Given the description of an element on the screen output the (x, y) to click on. 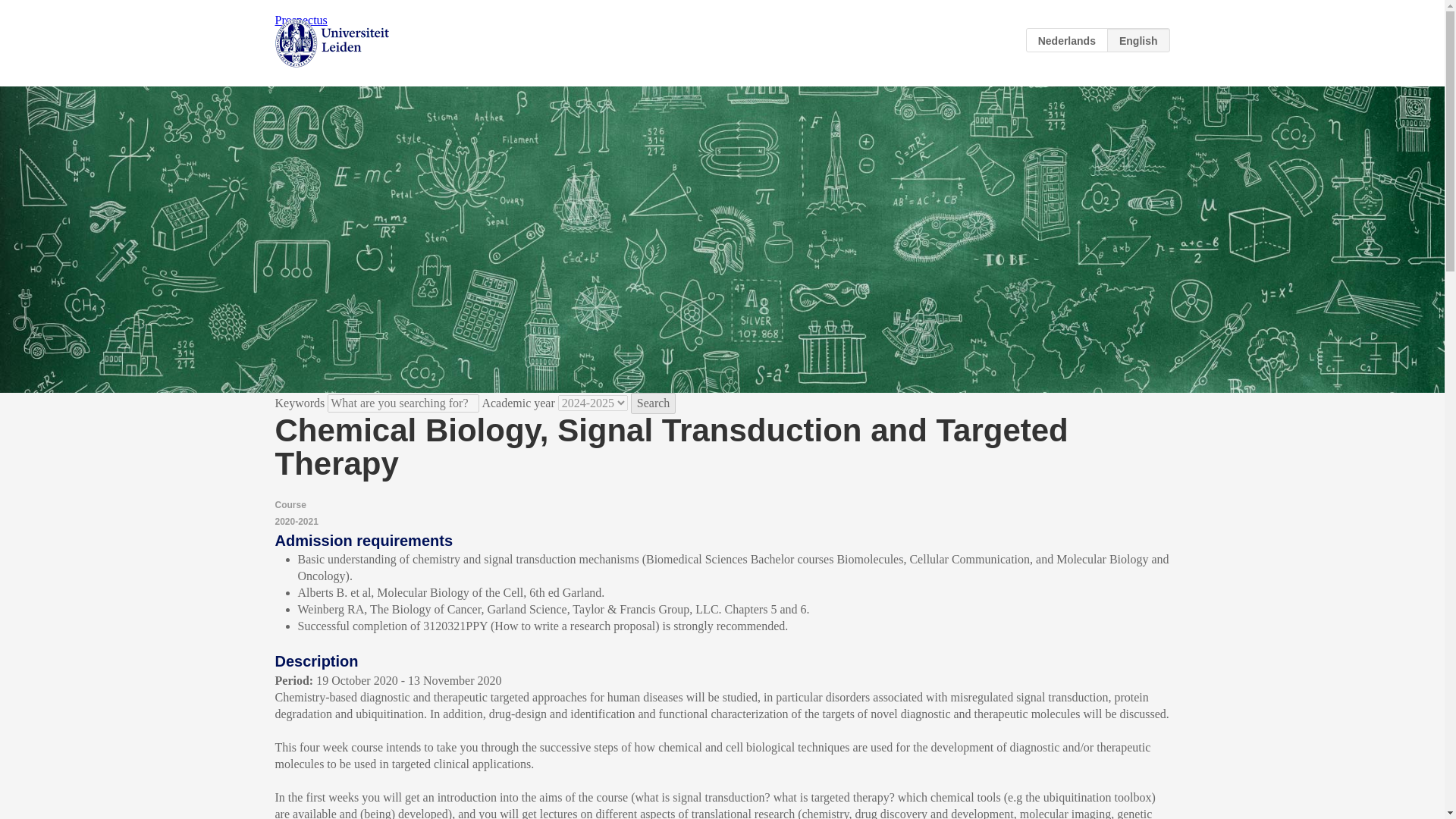
Search (653, 403)
Prospectus (300, 19)
NL (1067, 39)
